Given the description of an element on the screen output the (x, y) to click on. 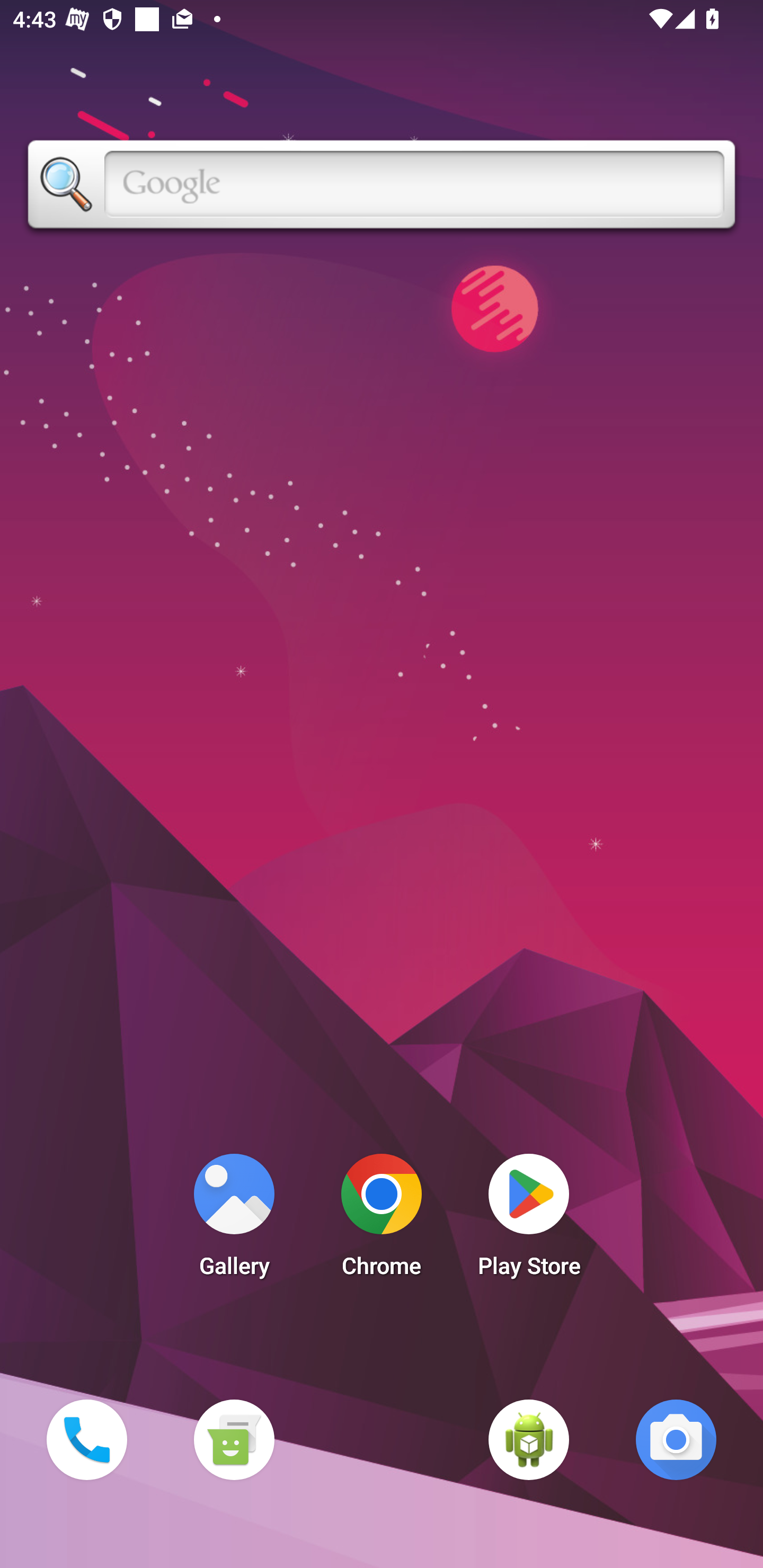
Gallery (233, 1220)
Chrome (381, 1220)
Play Store (528, 1220)
Phone (86, 1439)
Messaging (233, 1439)
WebView Browser Tester (528, 1439)
Camera (676, 1439)
